Given the description of an element on the screen output the (x, y) to click on. 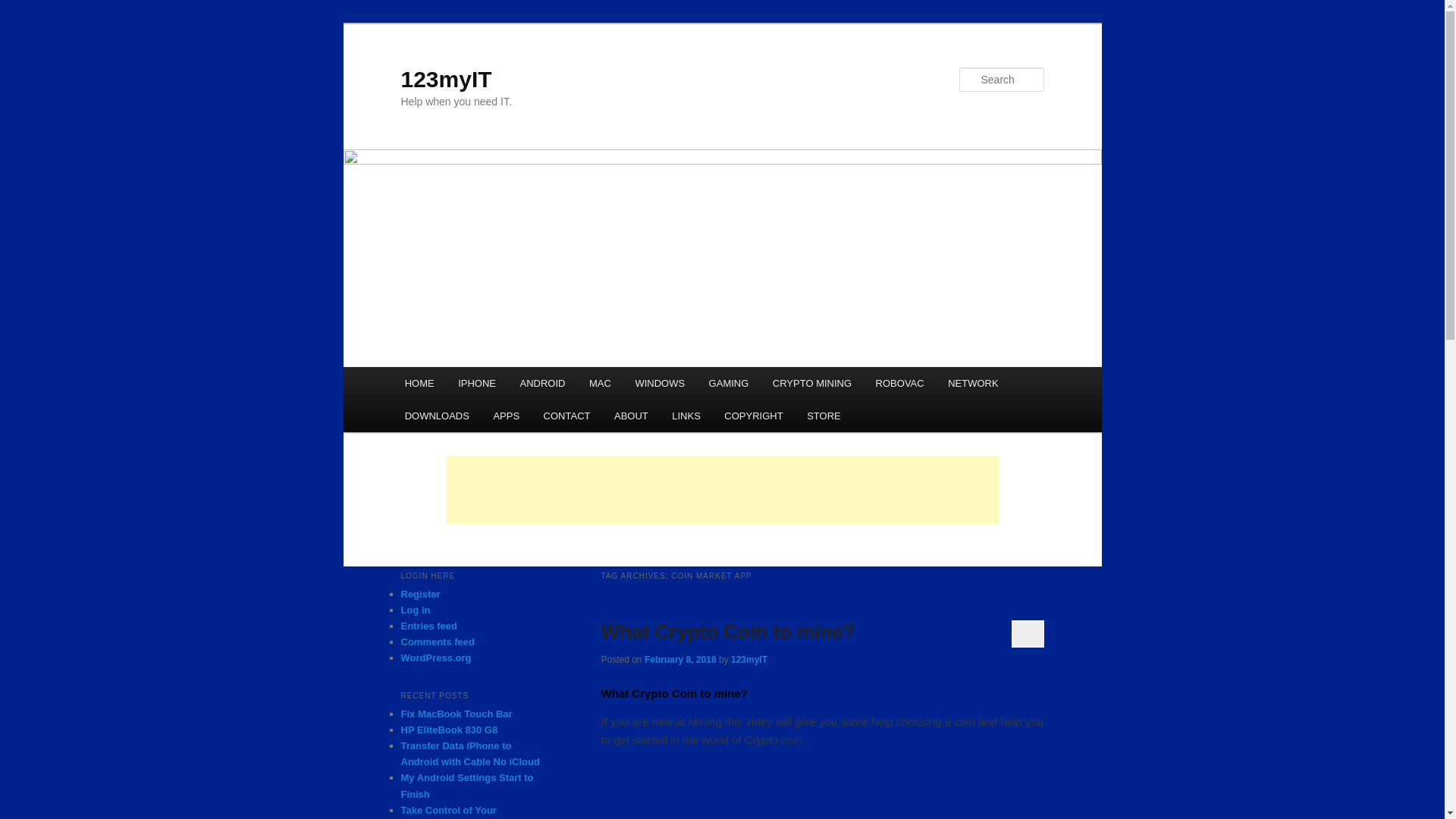
123myIT (446, 78)
Crypto Mining Category for all Crypto Mining posts. (811, 382)
ROBOVAC (899, 382)
MAC (599, 382)
11:24 pm (680, 659)
COPYRIGHT (753, 415)
CONTACT (566, 415)
DOWNLOADS (437, 415)
STORE (822, 415)
February 8, 2018 (680, 659)
ANDROID (542, 382)
GAMING (728, 382)
123myIT (446, 78)
ABOUT (630, 415)
